Given the description of an element on the screen output the (x, y) to click on. 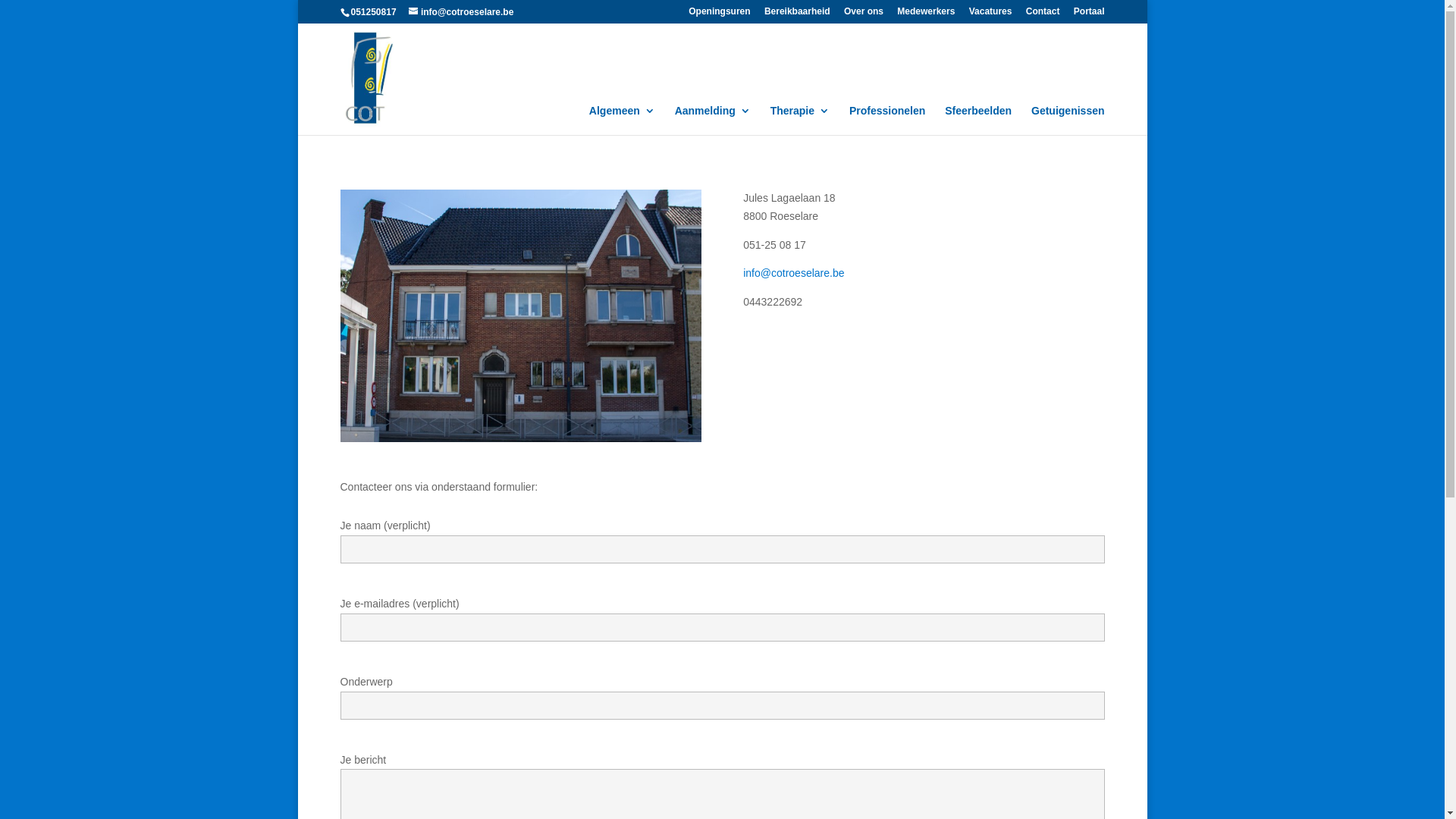
Openingsuren Element type: text (718, 14)
Over ons Element type: text (863, 14)
Therapie Element type: text (799, 119)
Medewerkers Element type: text (925, 14)
Bereikbaarheid Element type: text (797, 14)
het centrum Element type: hover (519, 315)
info@cotroeselare.be Element type: text (460, 11)
Contact Element type: text (1043, 14)
Vacatures Element type: text (990, 14)
Aanmelding Element type: text (712, 119)
Sfeerbeelden Element type: text (977, 119)
info@cotroeselare.be  Element type: text (795, 272)
Getuigenissen Element type: text (1067, 119)
Portaal Element type: text (1088, 14)
Professionelen Element type: text (887, 119)
Algemeen Element type: text (622, 119)
